Given the description of an element on the screen output the (x, y) to click on. 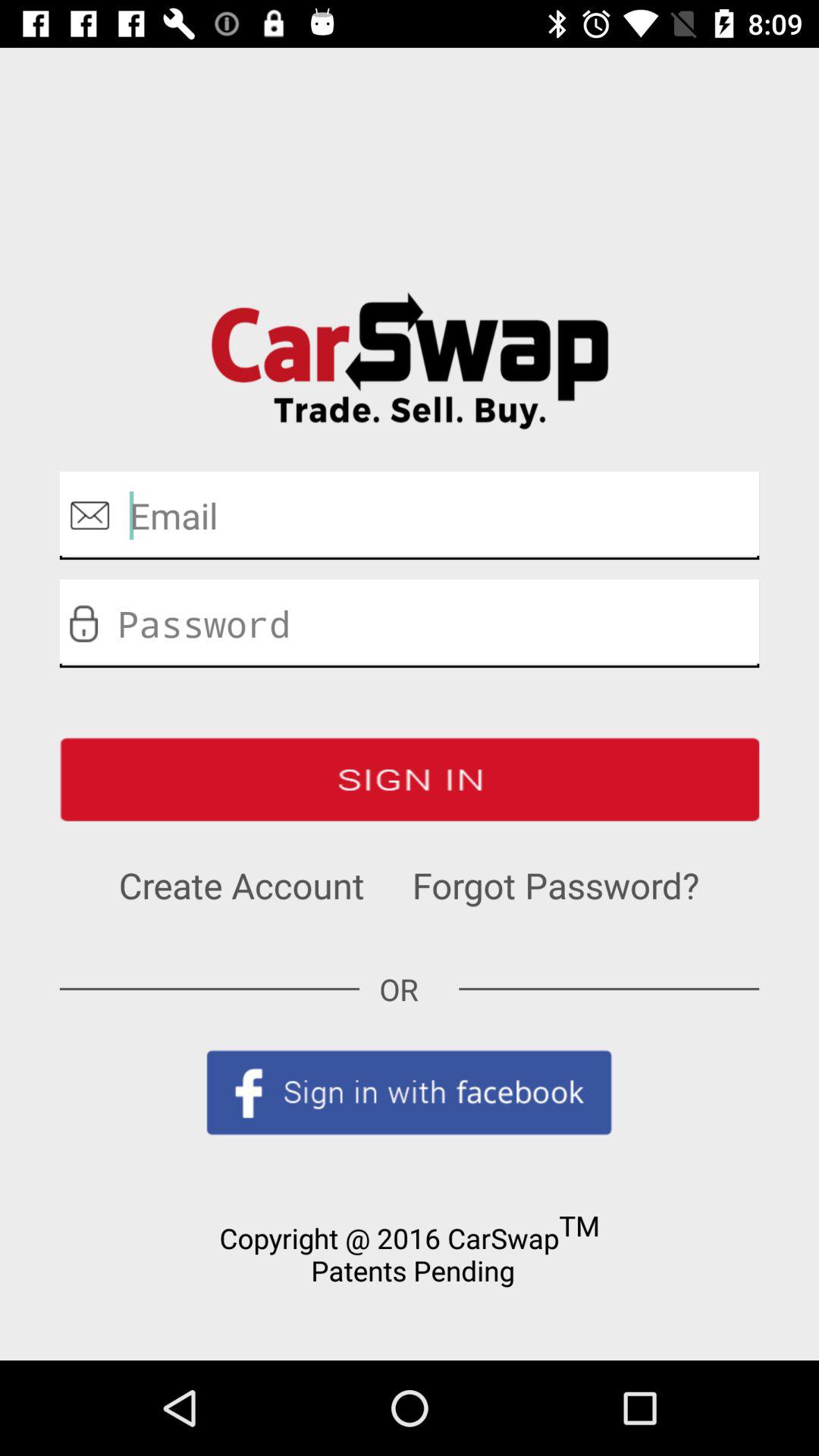
press sign in option (409, 779)
